Given the description of an element on the screen output the (x, y) to click on. 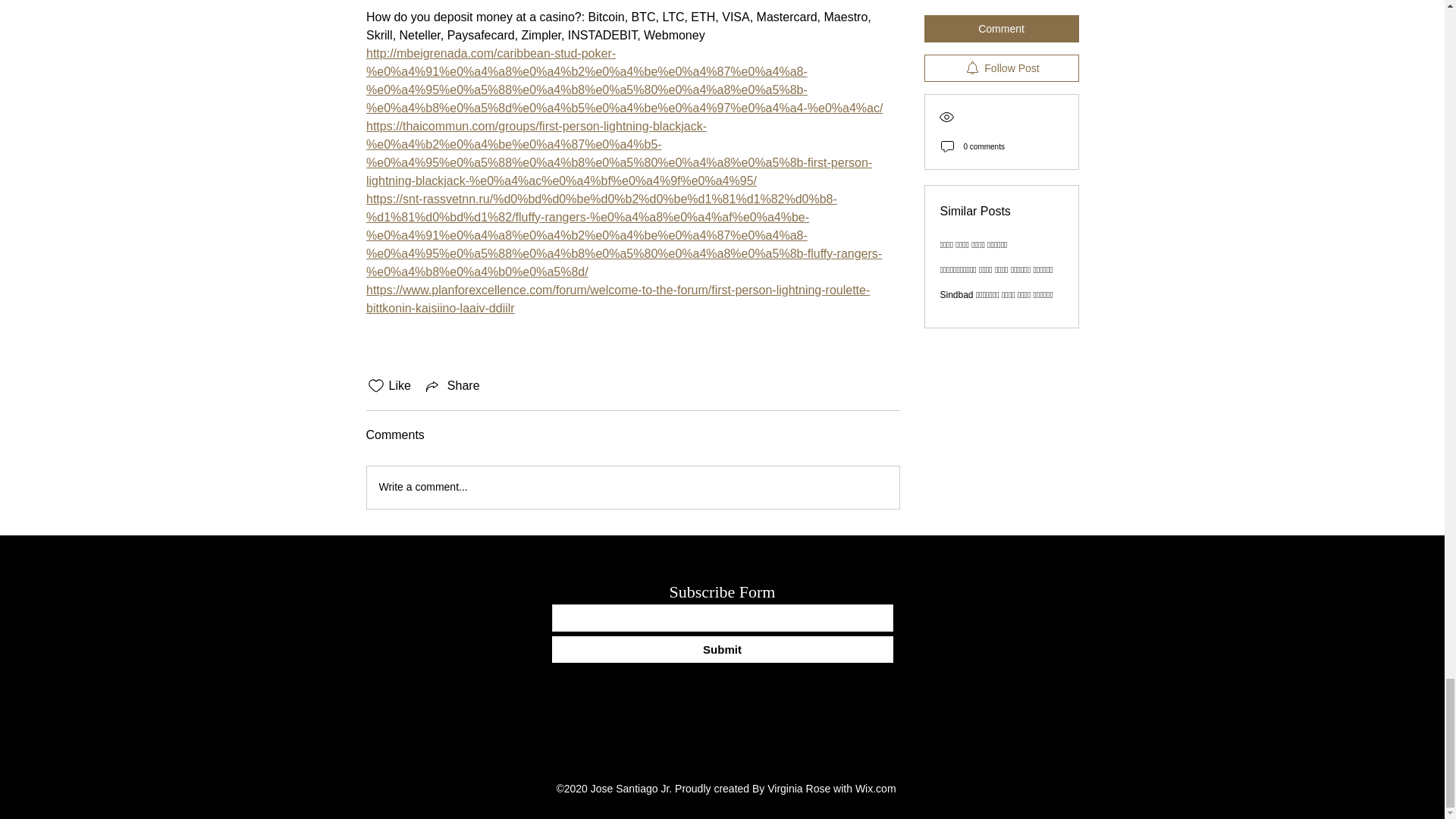
Submit (722, 649)
Write a comment... (632, 487)
Share (451, 385)
